Given the description of an element on the screen output the (x, y) to click on. 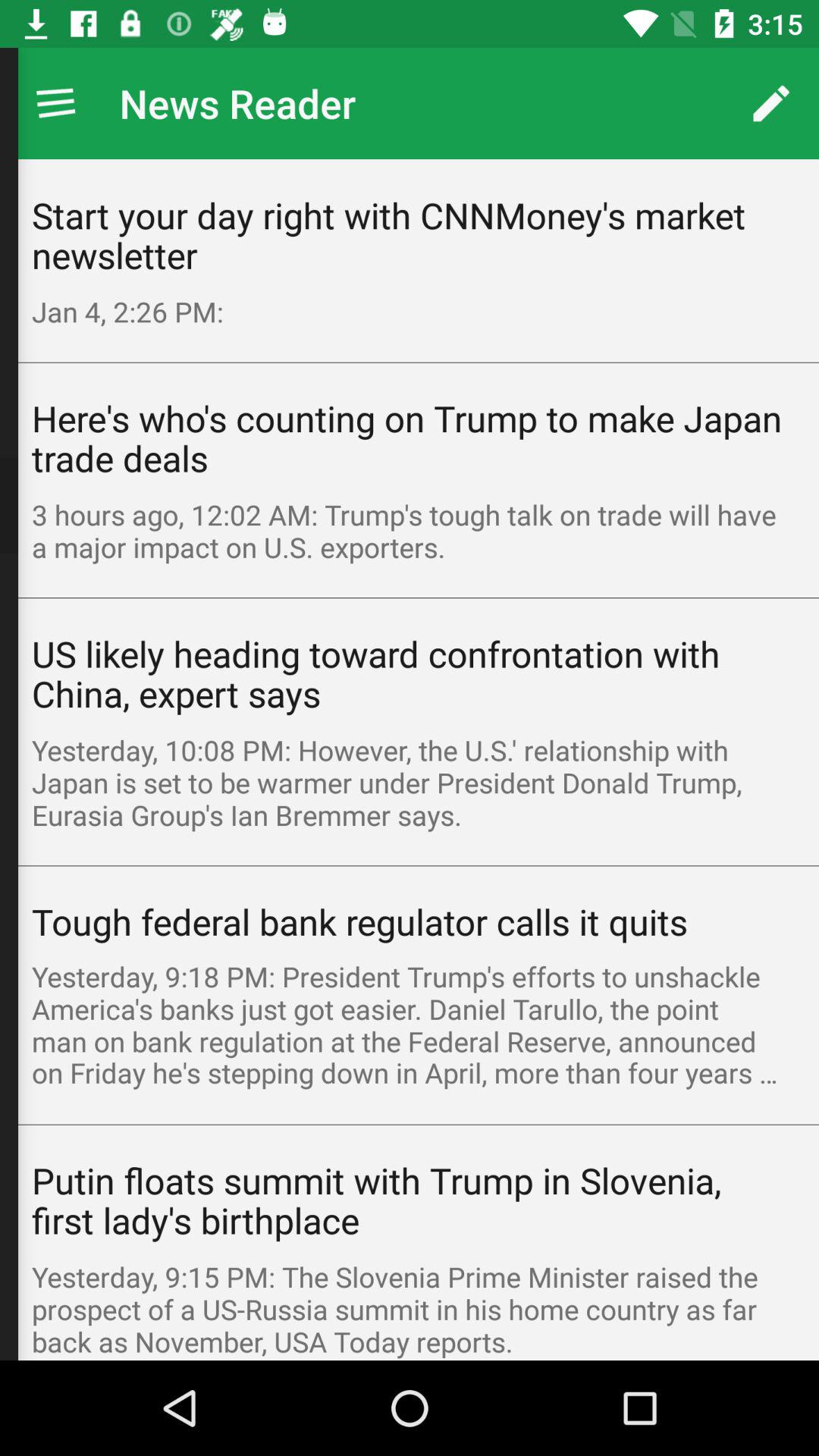
click the item above the start your day item (55, 103)
